Given the description of an element on the screen output the (x, y) to click on. 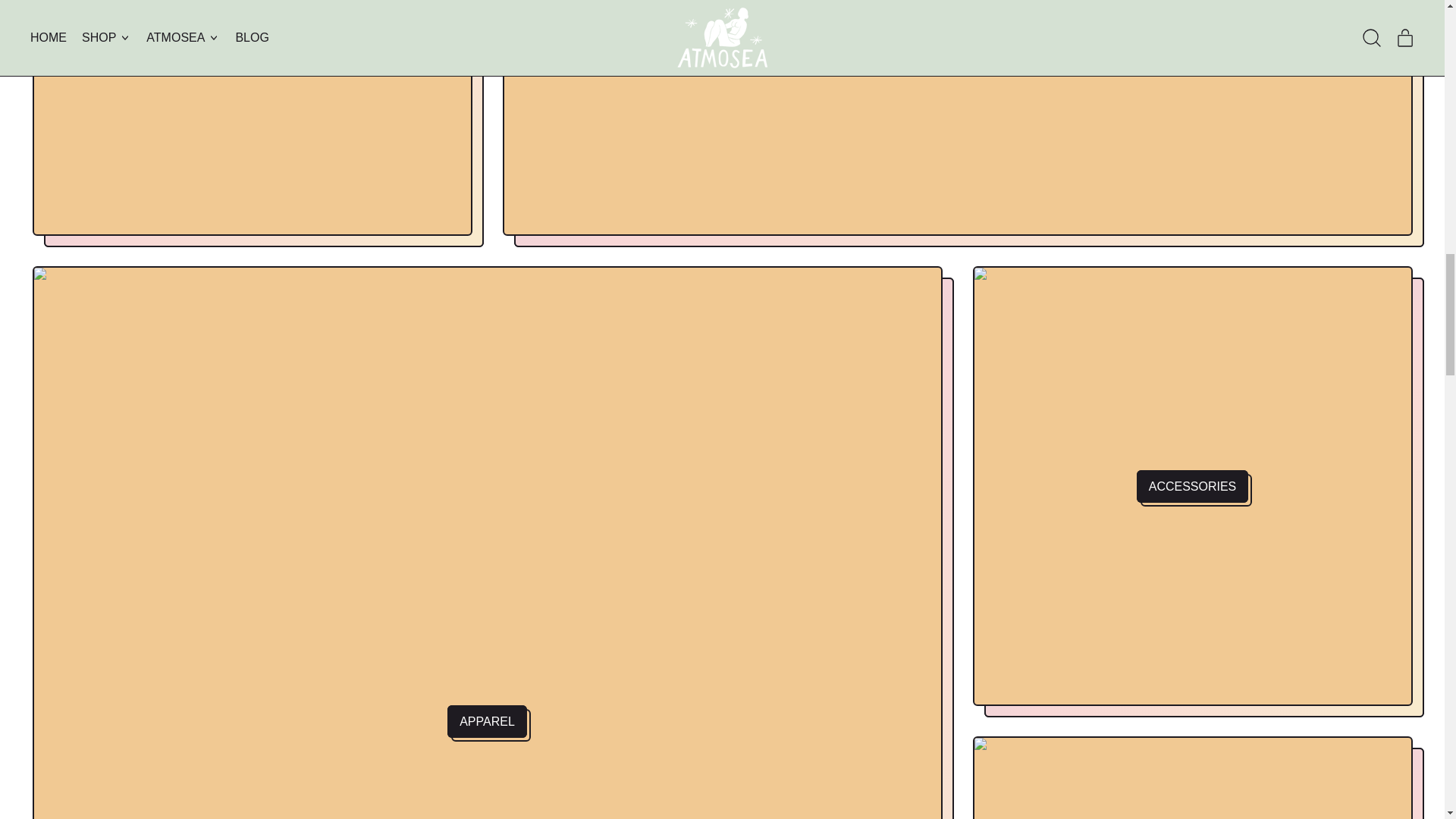
KIDS (1192, 777)
ALL PRODUCTS (251, 117)
